Given the description of an element on the screen output the (x, y) to click on. 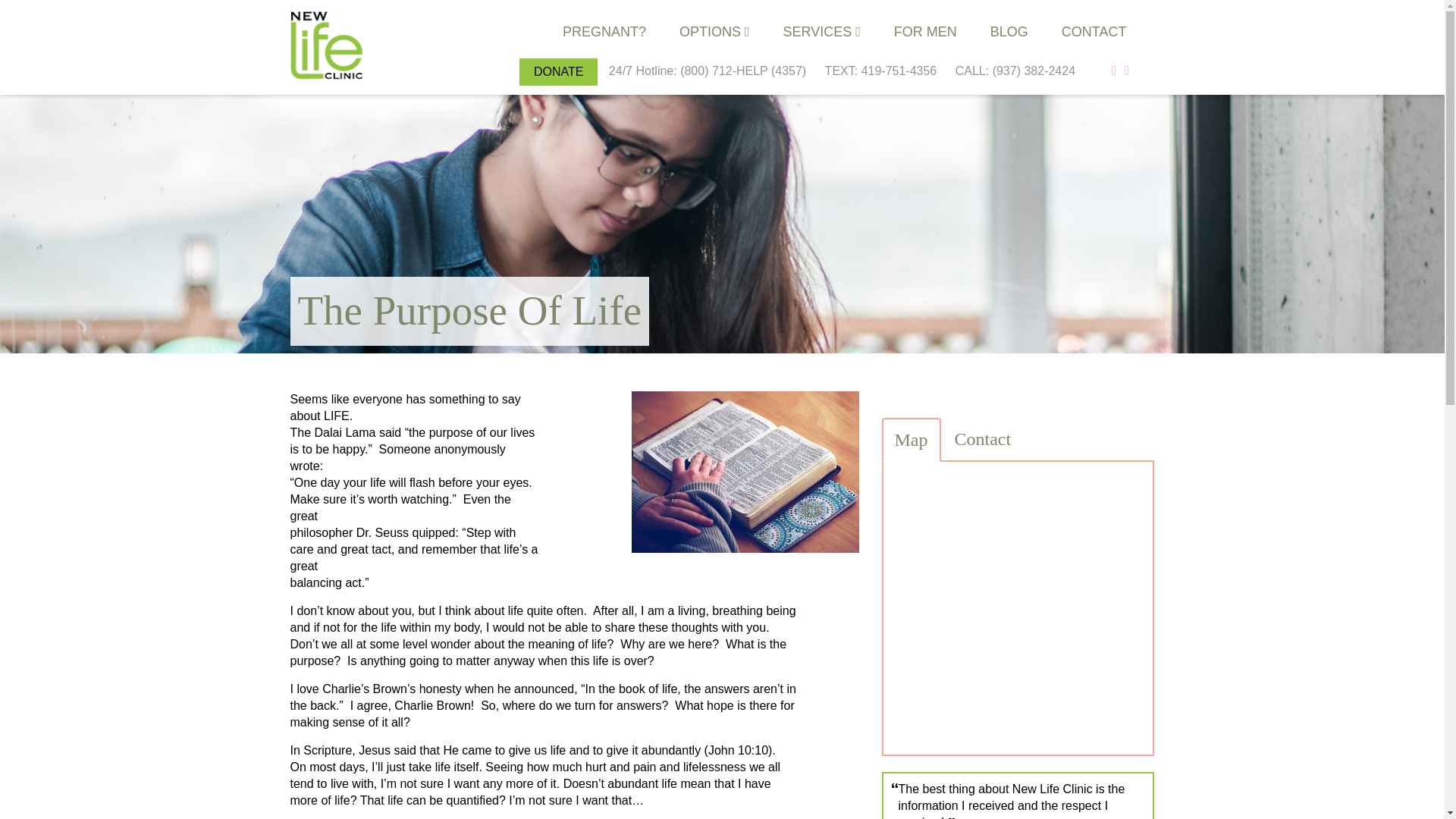
Options (714, 31)
Pregnant? (604, 31)
BLOG (1009, 31)
CONTACT (1093, 31)
DONATE (557, 72)
For Men (925, 31)
PREGNANT? (604, 31)
OPTIONS (714, 31)
FOR MEN (925, 31)
Contact (1093, 31)
Services (821, 31)
Blog (1009, 31)
419-751-4356 (904, 70)
SERVICES (821, 31)
